Given the description of an element on the screen output the (x, y) to click on. 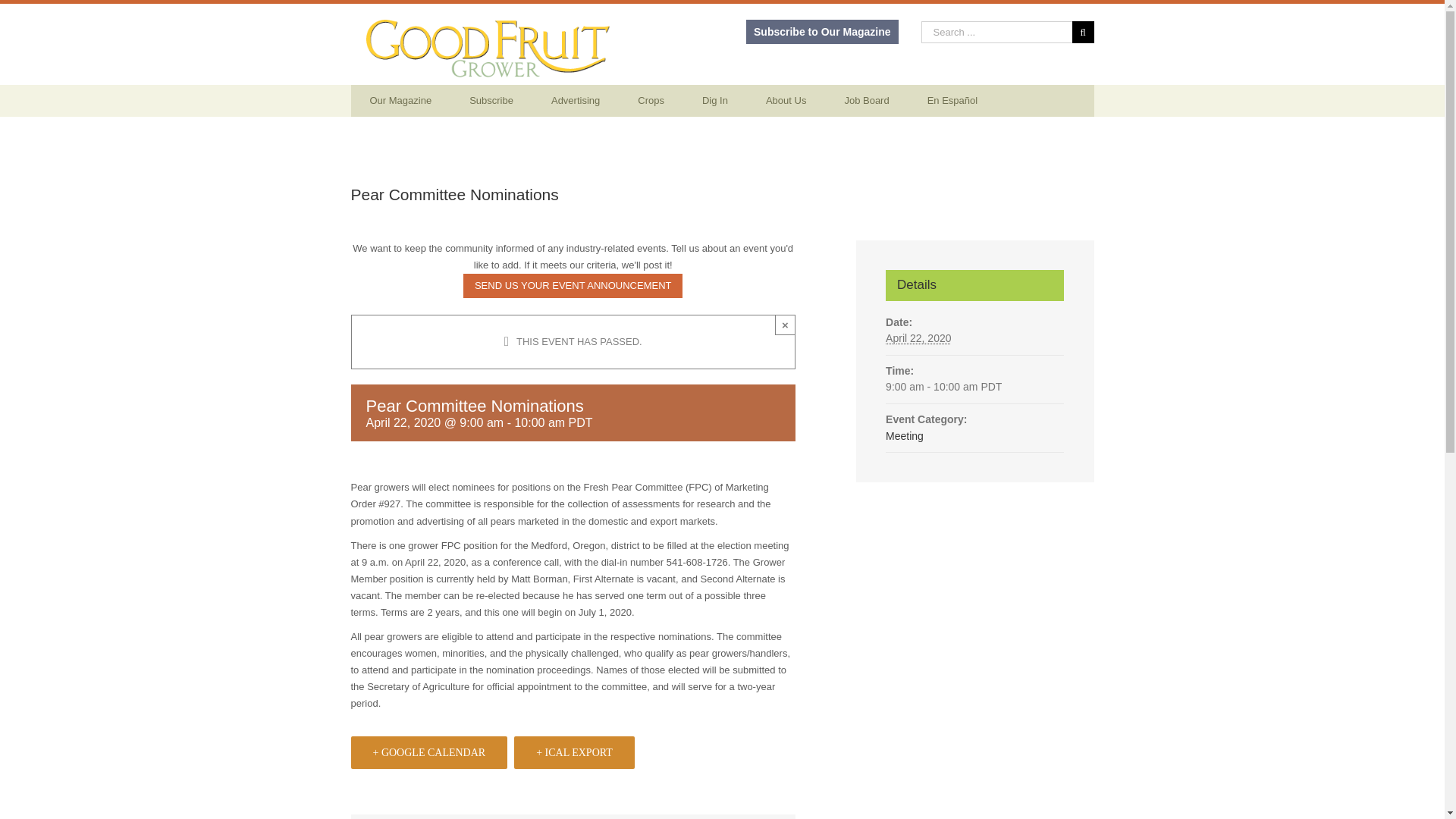
2020-04-22 (917, 337)
Our Magazine (400, 101)
2020-04-22 (974, 387)
Download .ics file (573, 752)
Advertising (575, 101)
Subscribe (490, 101)
Subscribe to Our Magazine (821, 31)
About Us (785, 101)
Add to Google Calendar (428, 752)
